Given the description of an element on the screen output the (x, y) to click on. 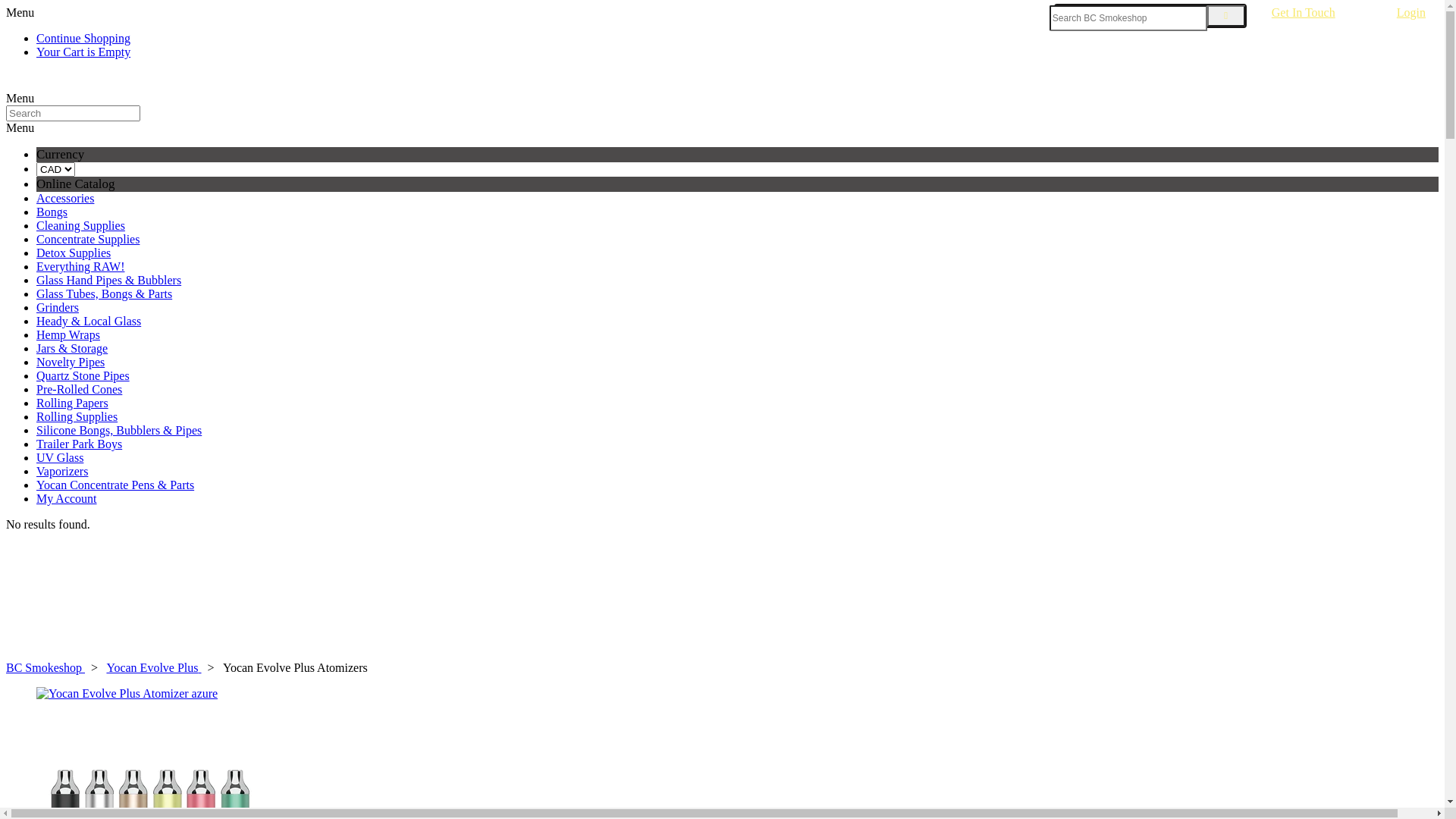
Bongs Element type: text (51, 211)
BC Smoke Shop on YouTube Element type: hover (51, 82)
Hemp Wraps Element type: text (68, 334)
Detox Supplies Element type: text (73, 252)
Your Cart is Empty Element type: text (83, 51)
Pre-Rolled Cones Element type: text (79, 388)
Menu Element type: text (20, 97)
Novelty Pipes Element type: text (70, 361)
Yocan Evolve Plus Atomizer azure Element type: hover (737, 693)
Cleaning Supplies Element type: text (80, 225)
BC Smoke Shop on Twitter Element type: hover (26, 82)
Rolling Supplies Element type: text (76, 416)
Login Element type: text (1411, 12)
Heady & Local Glass Element type: text (88, 320)
Accessories Element type: text (65, 197)
Continue Shopping Element type: text (83, 37)
Concentrate Supplies Element type: text (87, 238)
Yocan Concentrate Pens & Parts Element type: text (115, 484)
Yocan Evolve Plus Element type: text (153, 667)
Vaporizers Element type: text (61, 470)
Trailer Park Boys Element type: text (79, 443)
Everything RAW! Element type: text (80, 266)
Get In Touch Element type: text (1317, 12)
Jars & Storage Element type: text (71, 348)
BC Smoke Shop on Instagram Element type: hover (63, 82)
Glass Tubes, Bongs & Parts Element type: text (104, 293)
Silicone Bongs, Bubblers & Pipes Element type: text (118, 429)
Email BC Smoke Shop Element type: hover (75, 82)
BC Smokeshop Element type: text (45, 667)
Glass Hand Pipes & Bubblers Element type: text (108, 279)
My Account Element type: text (66, 498)
Menu Element type: text (20, 12)
Grinders Element type: text (57, 307)
Quartz Stone Pipes Element type: text (82, 375)
UV Glass Element type: text (59, 457)
Rolling Papers Element type: text (72, 402)
Menu Element type: text (20, 127)
BC Smoke Shop on Facebook Element type: hover (38, 82)
